Given the description of an element on the screen output the (x, y) to click on. 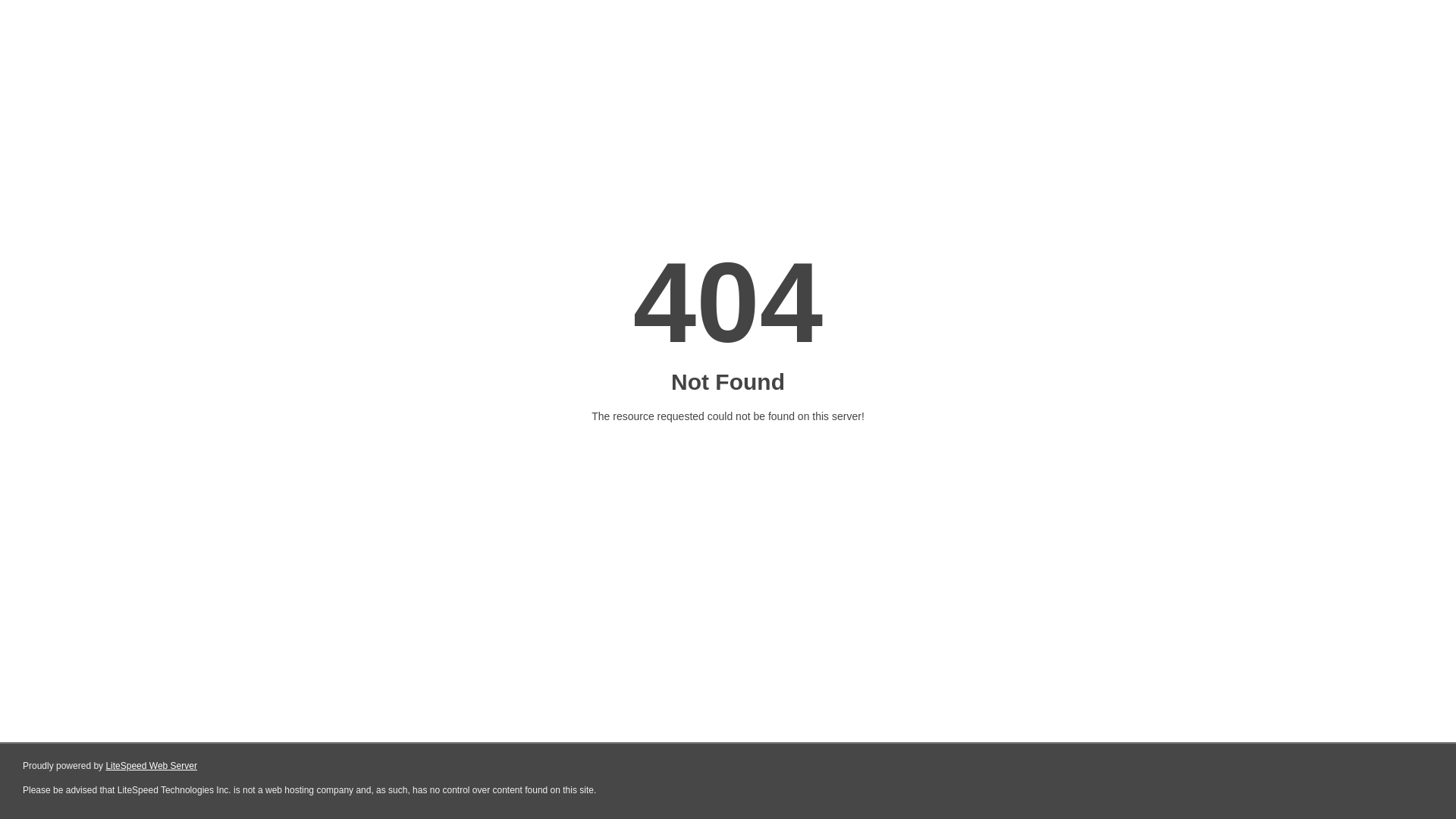
LiteSpeed Web Server (150, 765)
